Given the description of an element on the screen output the (x, y) to click on. 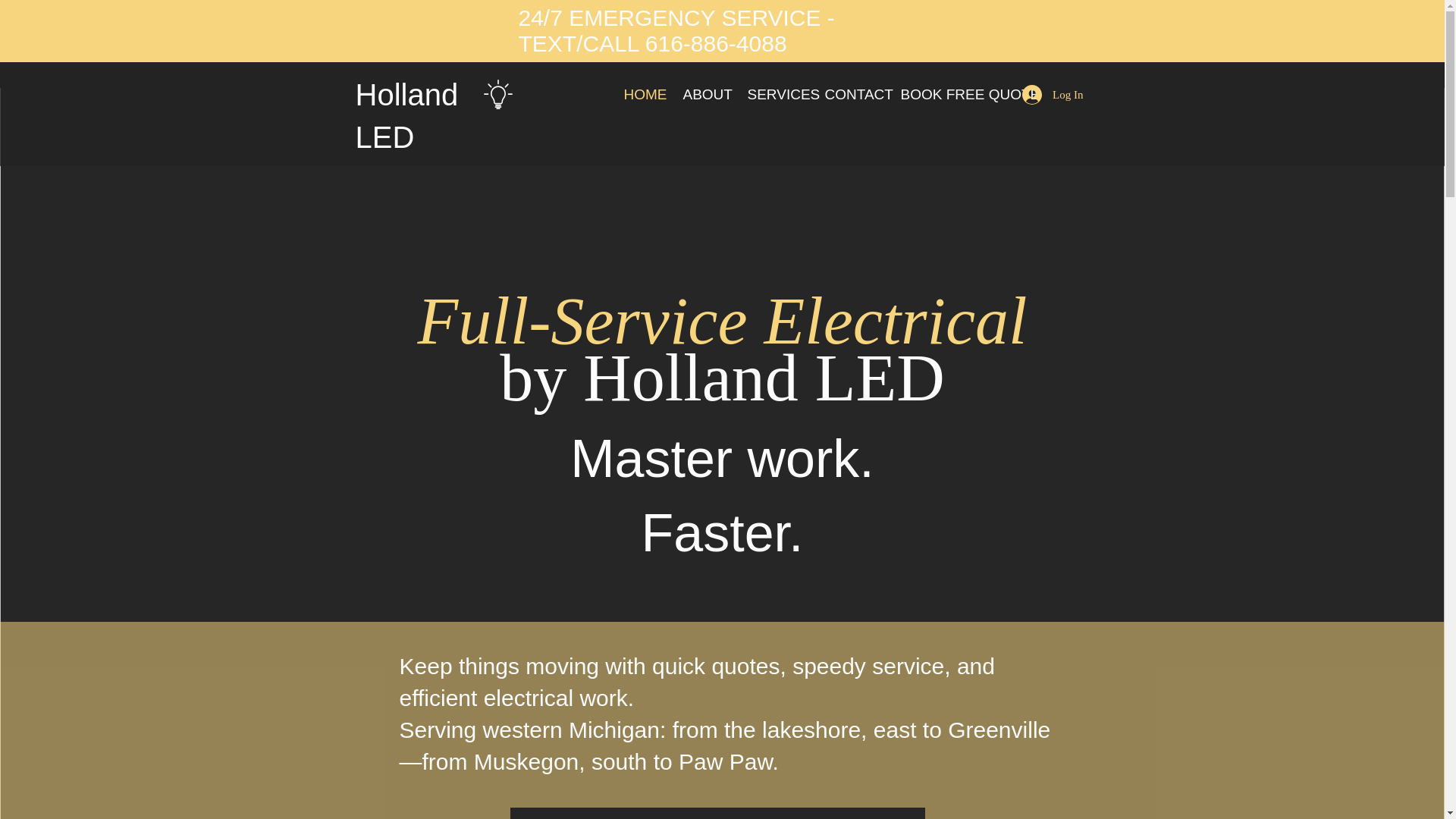
FREE in-person quotes. Book now (716, 813)
HOME (641, 94)
ABOUT (703, 94)
SERVICES (773, 94)
BOOK FREE QUOTE (948, 94)
Log In (1052, 94)
CONTACT (850, 94)
